Given the description of an element on the screen output the (x, y) to click on. 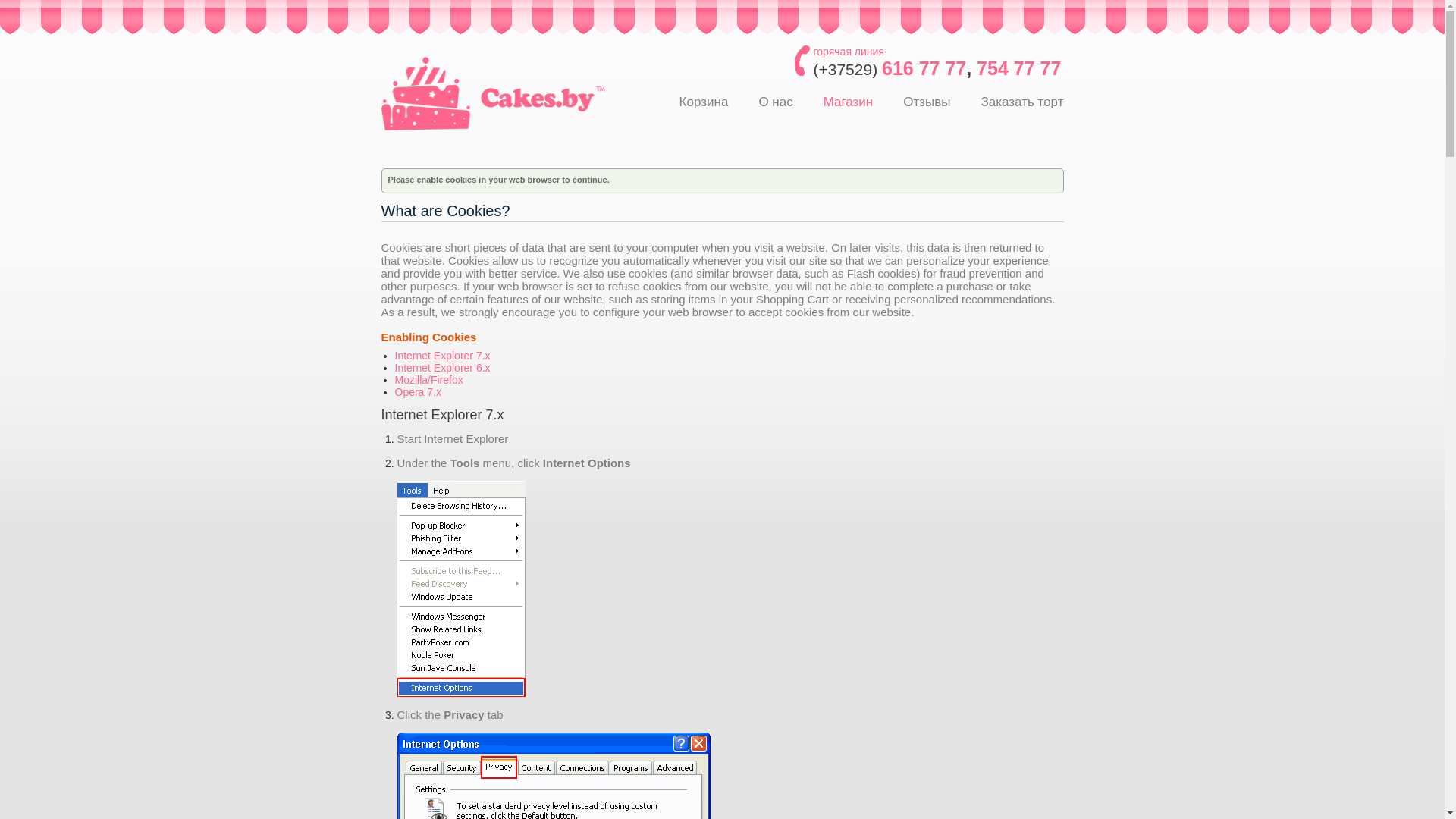
Opera 7.x Element type: text (417, 391)
616 77 77 Element type: text (923, 67)
Internet Explorer 7.x Element type: text (441, 355)
Internet Explorer 6.x Element type: text (441, 367)
Mozilla/Firefox Element type: text (428, 379)
754 77 77 Element type: text (1018, 67)
